Given the description of an element on the screen output the (x, y) to click on. 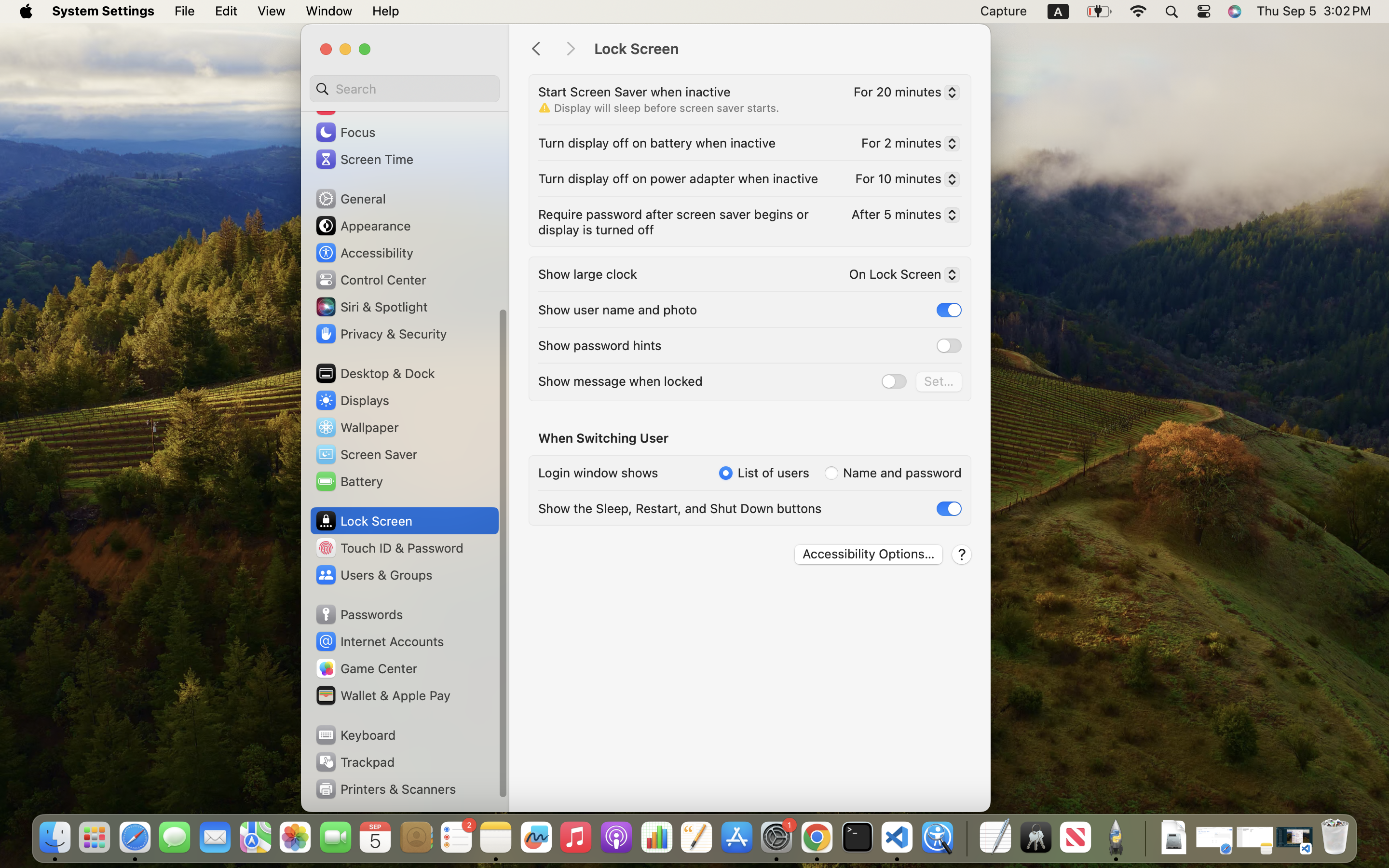
Accessibility Element type: AXStaticText (363, 252)
On Lock Screen Element type: AXPopUpButton (900, 276)
Lock Screen Element type: AXStaticText (782, 49)
Touch ID & Password Element type: AXStaticText (388, 547)
Screen Time Element type: AXStaticText (363, 158)
